Given the description of an element on the screen output the (x, y) to click on. 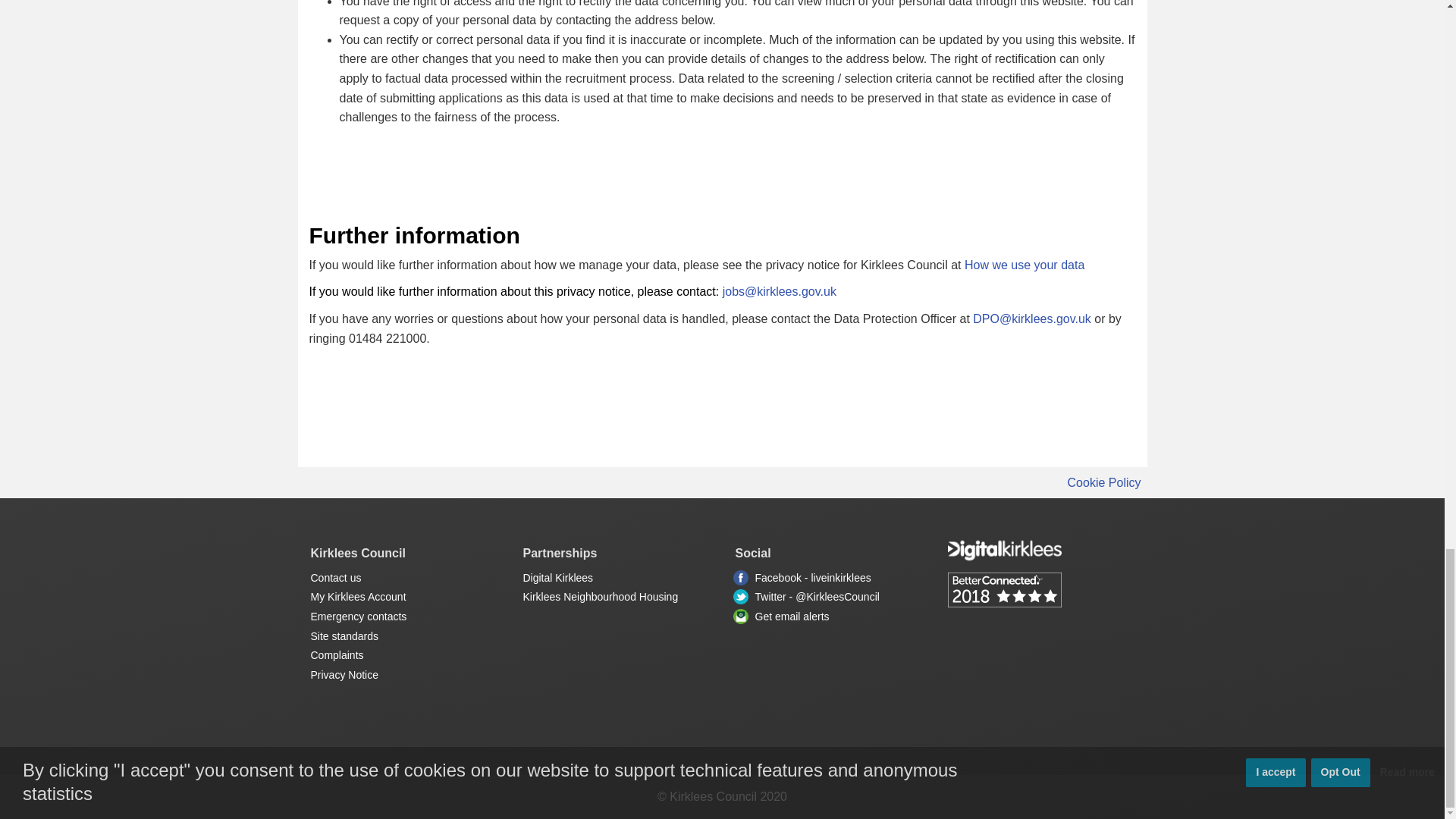
My Kirklees Account (358, 596)
Emergency contacts (359, 616)
Privacy Notice (344, 674)
Kirklees Council Twitter (740, 596)
Cookie Policy (1104, 481)
Contact the council (336, 577)
Sign up for email alerts and stay connected on Gov Delivery (740, 616)
Compliments and complaints (337, 654)
Site Standards - Socitm better connected - 4 star award 2018 (1040, 589)
Privacy Notice (344, 674)
